Given the description of an element on the screen output the (x, y) to click on. 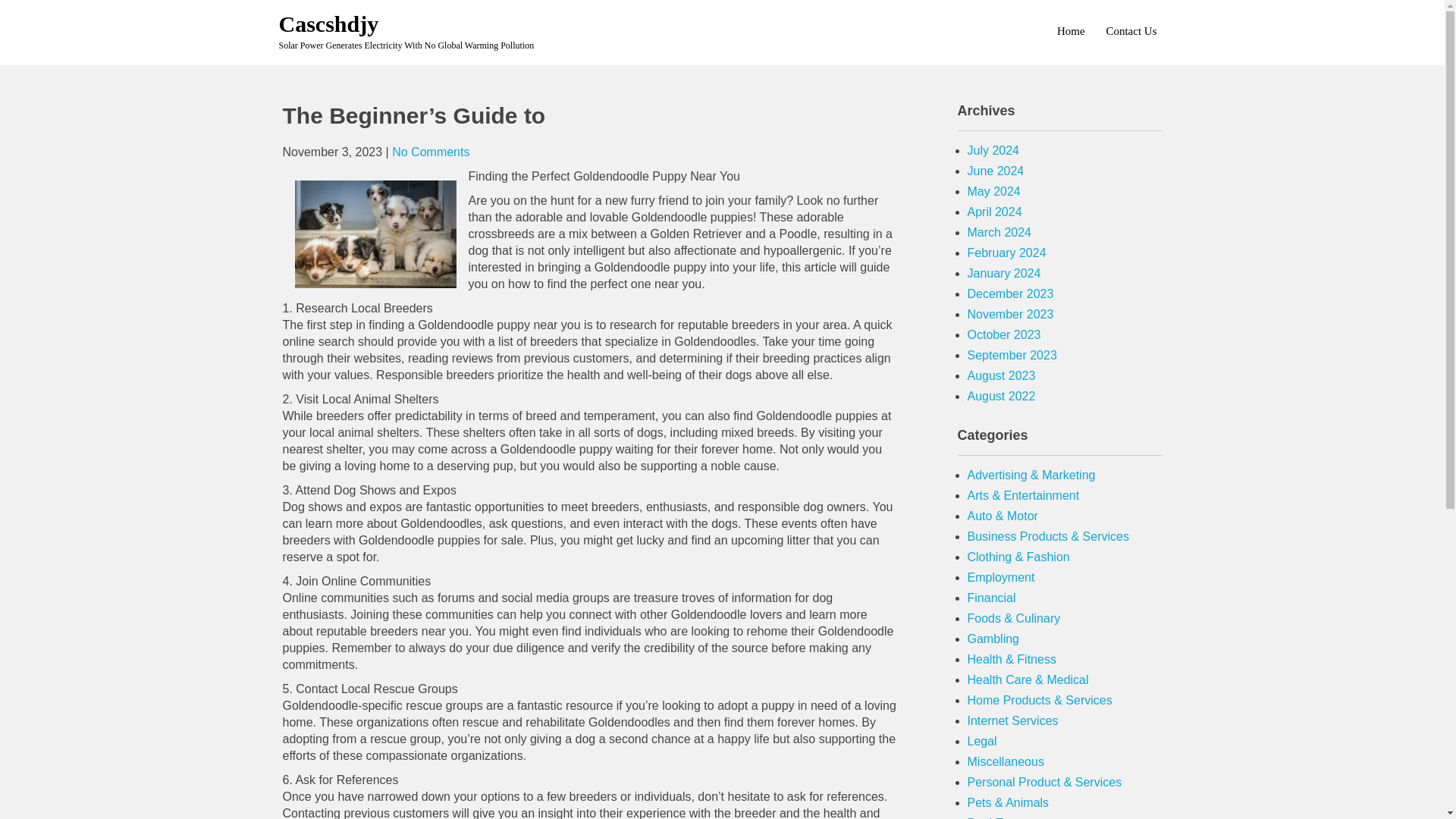
September 2023 (1012, 354)
December 2023 (1011, 293)
No Comments (429, 151)
Legal (982, 740)
April 2024 (995, 211)
Gambling (993, 638)
Miscellaneous (1005, 761)
January 2024 (1004, 273)
February 2024 (1007, 252)
October 2023 (1004, 334)
March 2024 (1000, 232)
Internet Services (1013, 720)
August 2022 (1001, 395)
Financial (992, 597)
Contact Us (1130, 30)
